Given the description of an element on the screen output the (x, y) to click on. 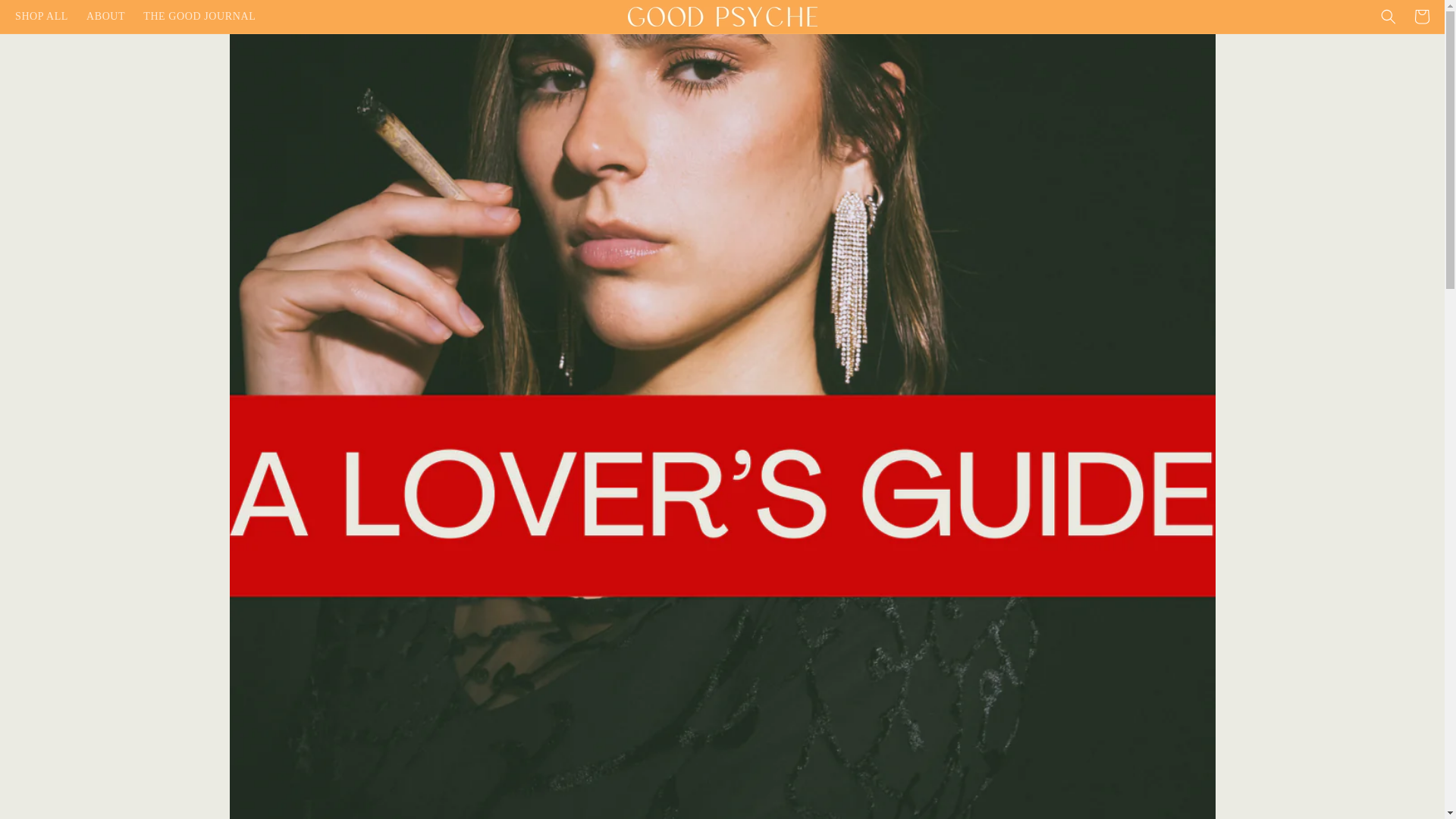
THE GOOD JOURNAL (198, 16)
SHOP ALL (41, 16)
Cart (1421, 16)
Skip to content (45, 17)
ABOUT (105, 16)
